Given the description of an element on the screen output the (x, y) to click on. 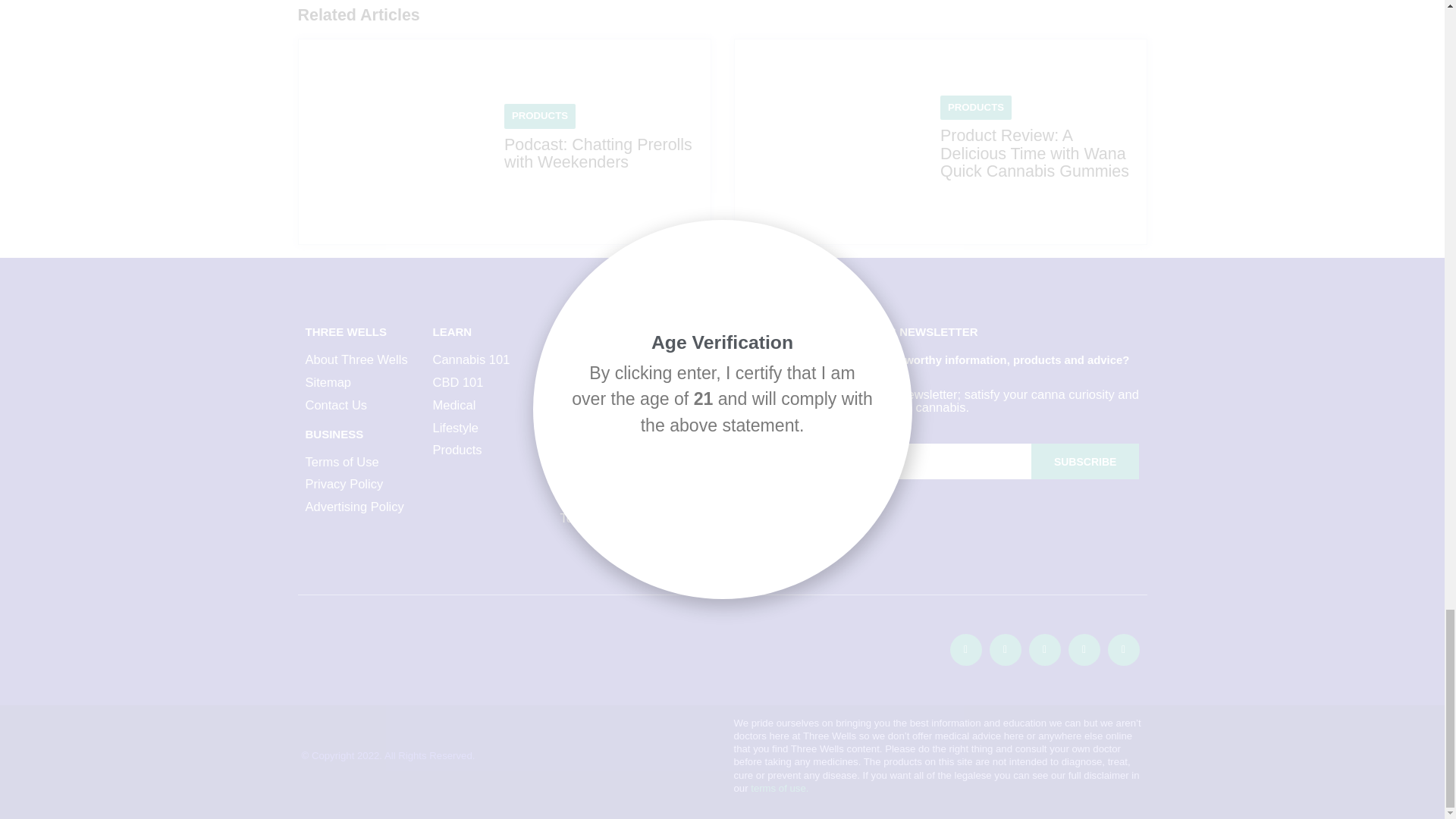
PRODUCTS (975, 107)
LEARN (451, 331)
Sitemap (360, 382)
About Three Wells (360, 359)
Terms of Use (360, 462)
Contact Us (360, 405)
Cannabis 101 (488, 359)
Privacy Policy (360, 484)
Podcast: Chatting Prerolls with Weekenders (598, 153)
